Given the description of an element on the screen output the (x, y) to click on. 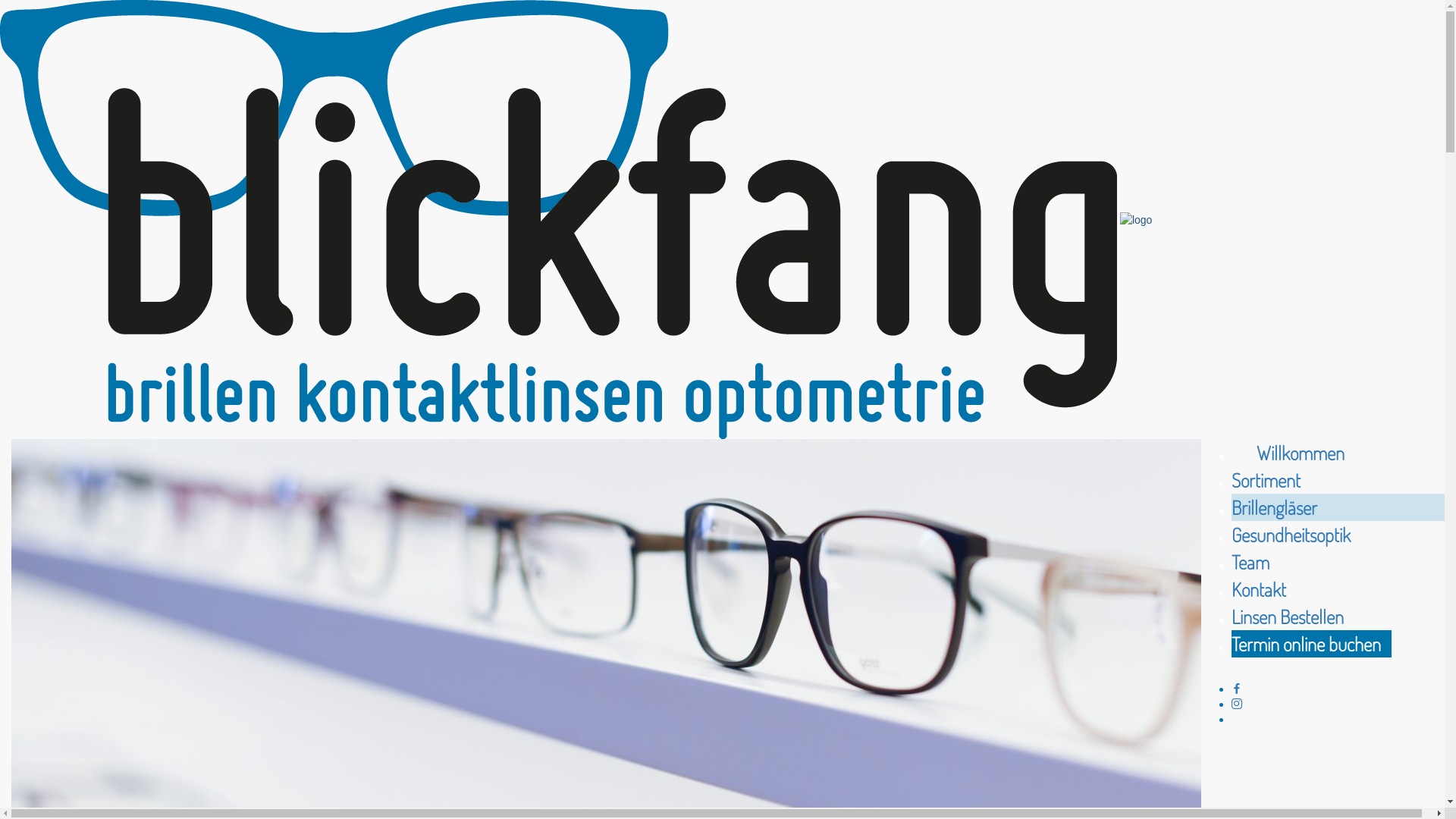
Linsen Bestellen Element type: text (1287, 616)
Gesundheitsoptik Element type: text (1290, 534)
Team Element type: text (1250, 561)
Termin online buchen Element type: text (1311, 643)
Sortiment Element type: text (1265, 479)
Kontakt Element type: text (1258, 589)
Willkommen Element type: text (1287, 452)
